Given the description of an element on the screen output the (x, y) to click on. 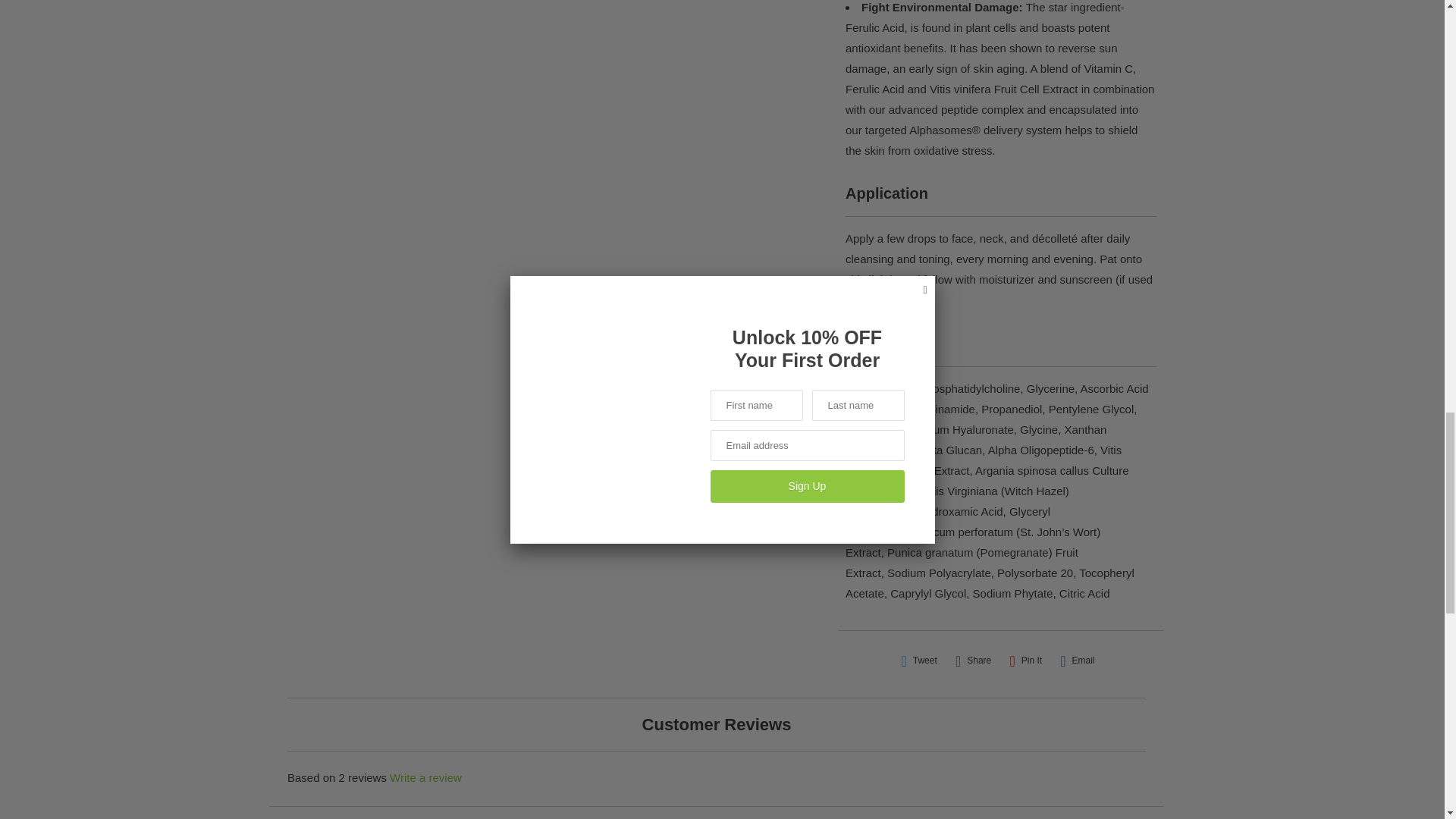
Share this on Facebook (972, 659)
Share this on Twitter (918, 659)
Email this to a friend (1077, 659)
Share this on Pinterest (1025, 659)
